Given the description of an element on the screen output the (x, y) to click on. 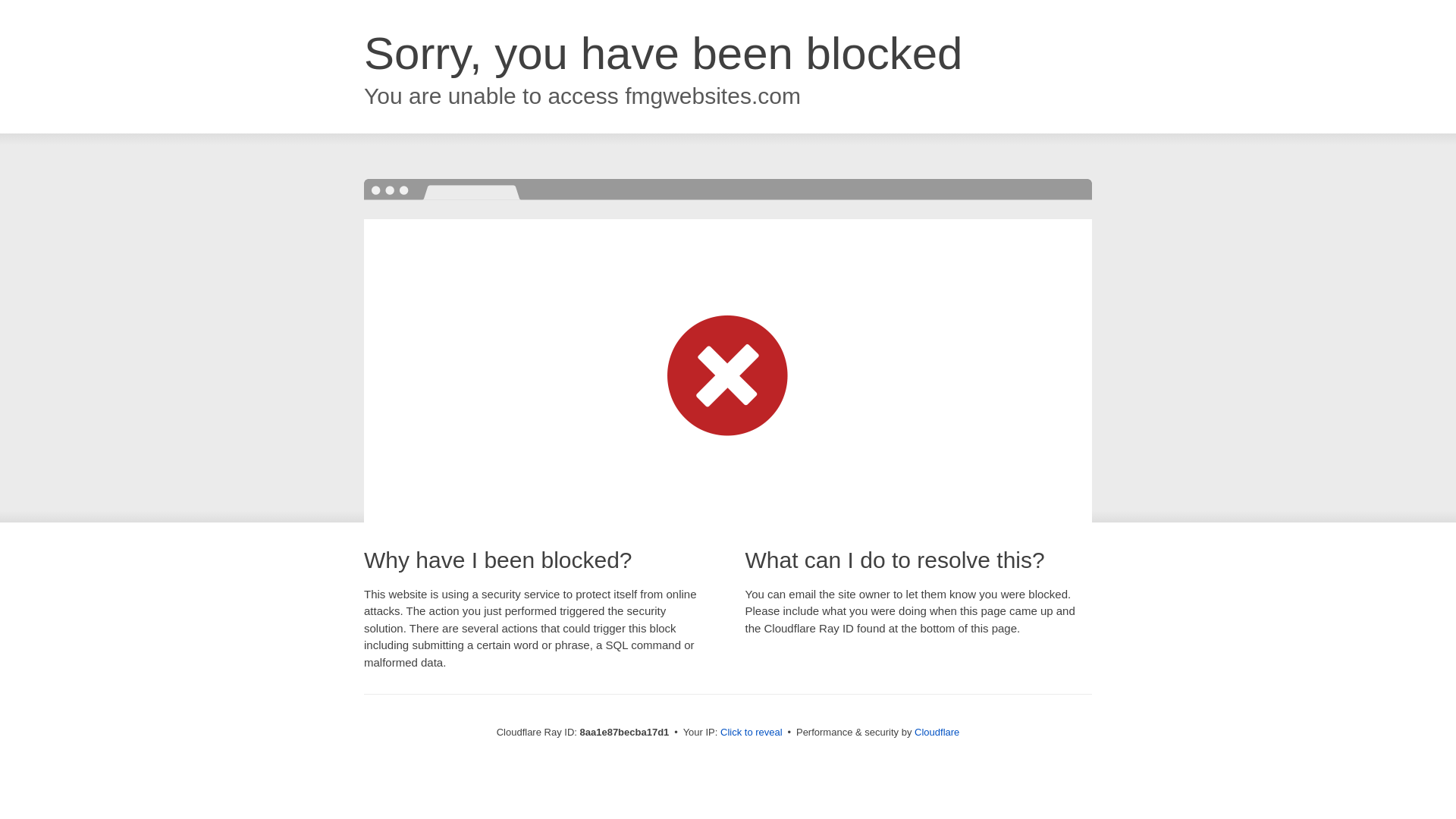
Click to reveal (751, 732)
Cloudflare (936, 731)
